Given the description of an element on the screen output the (x, y) to click on. 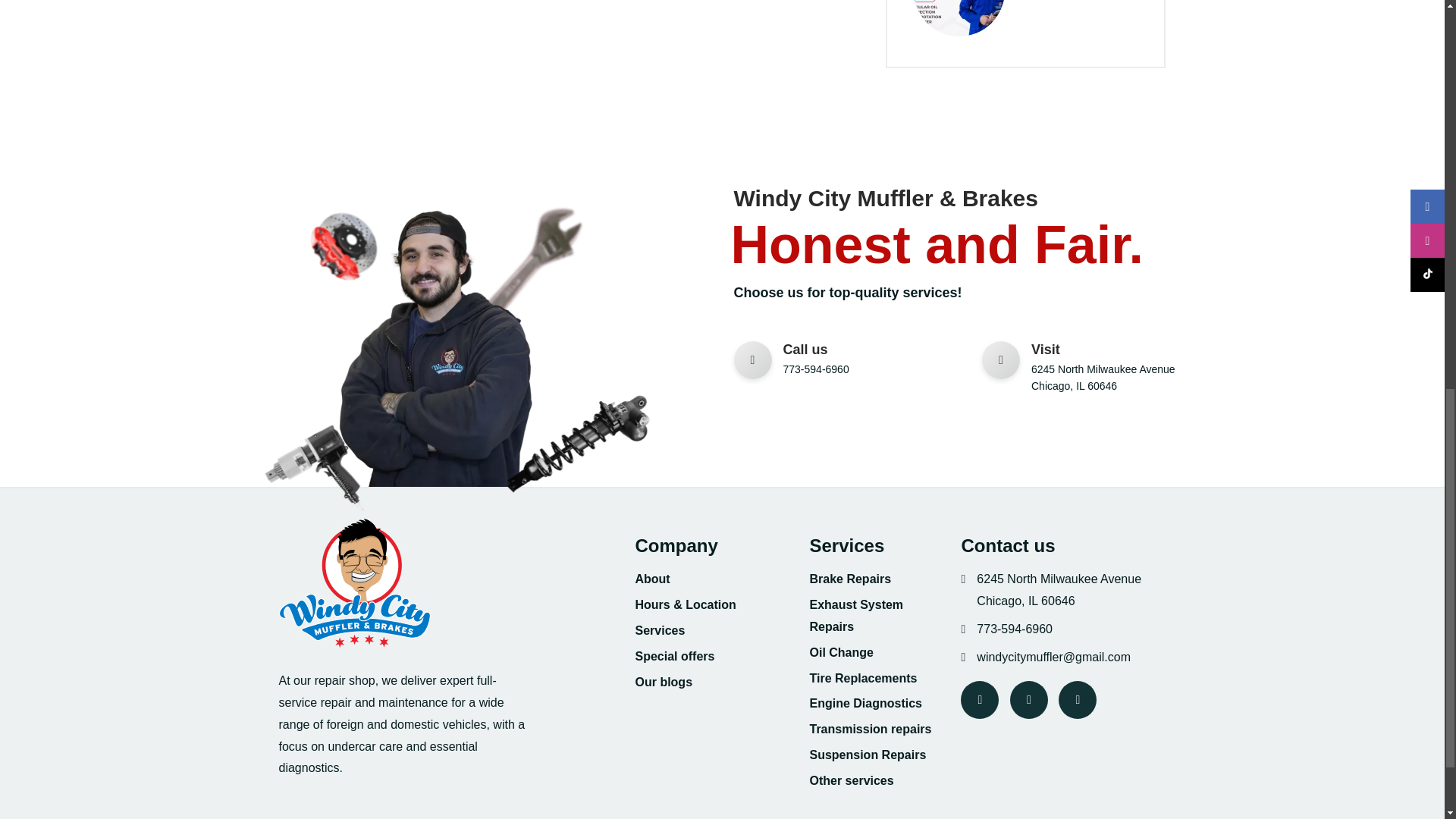
Facebook (979, 699)
1 (342, 235)
Tiktok (1077, 699)
Instagram (1029, 699)
